Given the description of an element on the screen output the (x, y) to click on. 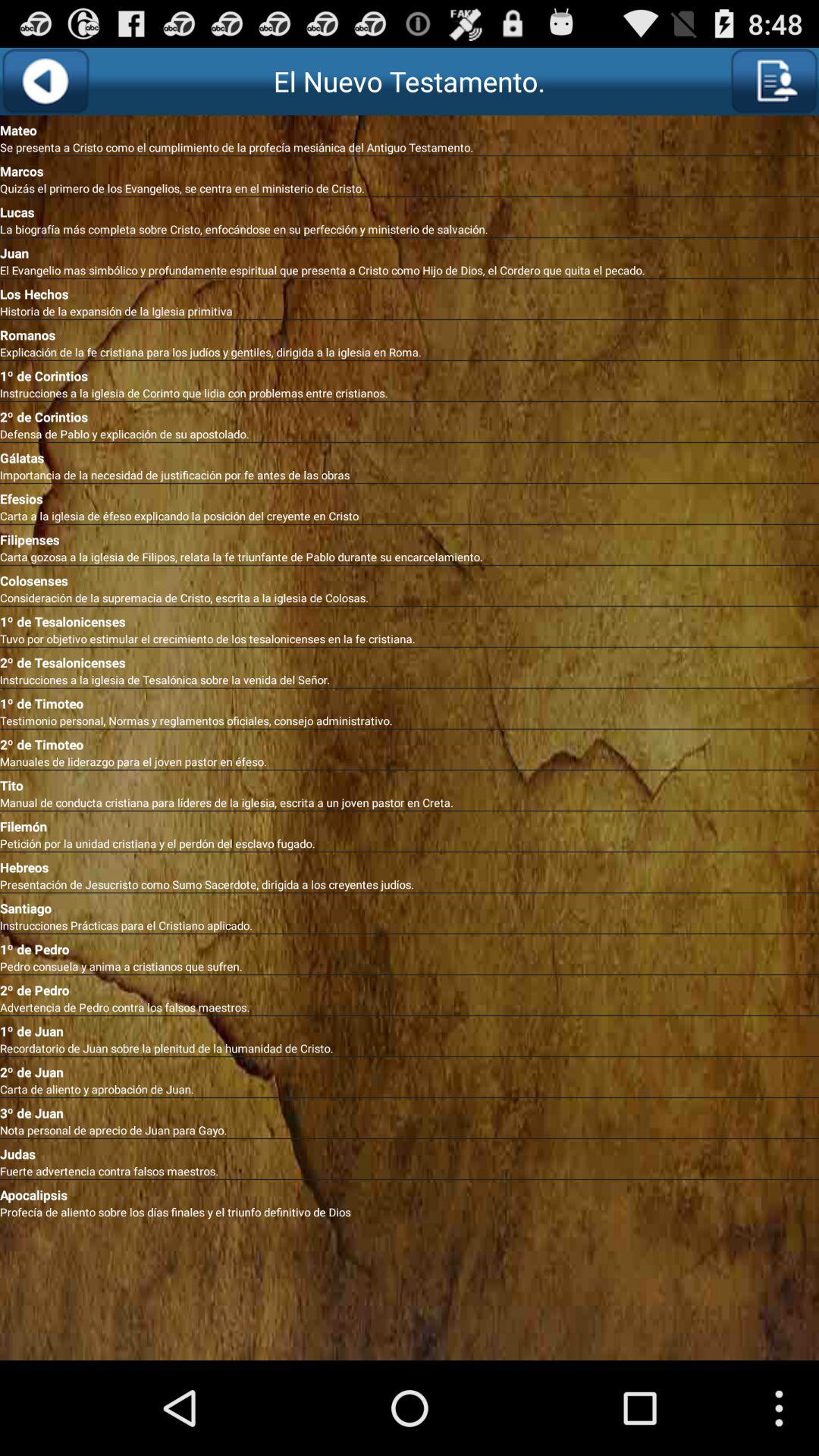
flip until the tito app (409, 782)
